Given the description of an element on the screen output the (x, y) to click on. 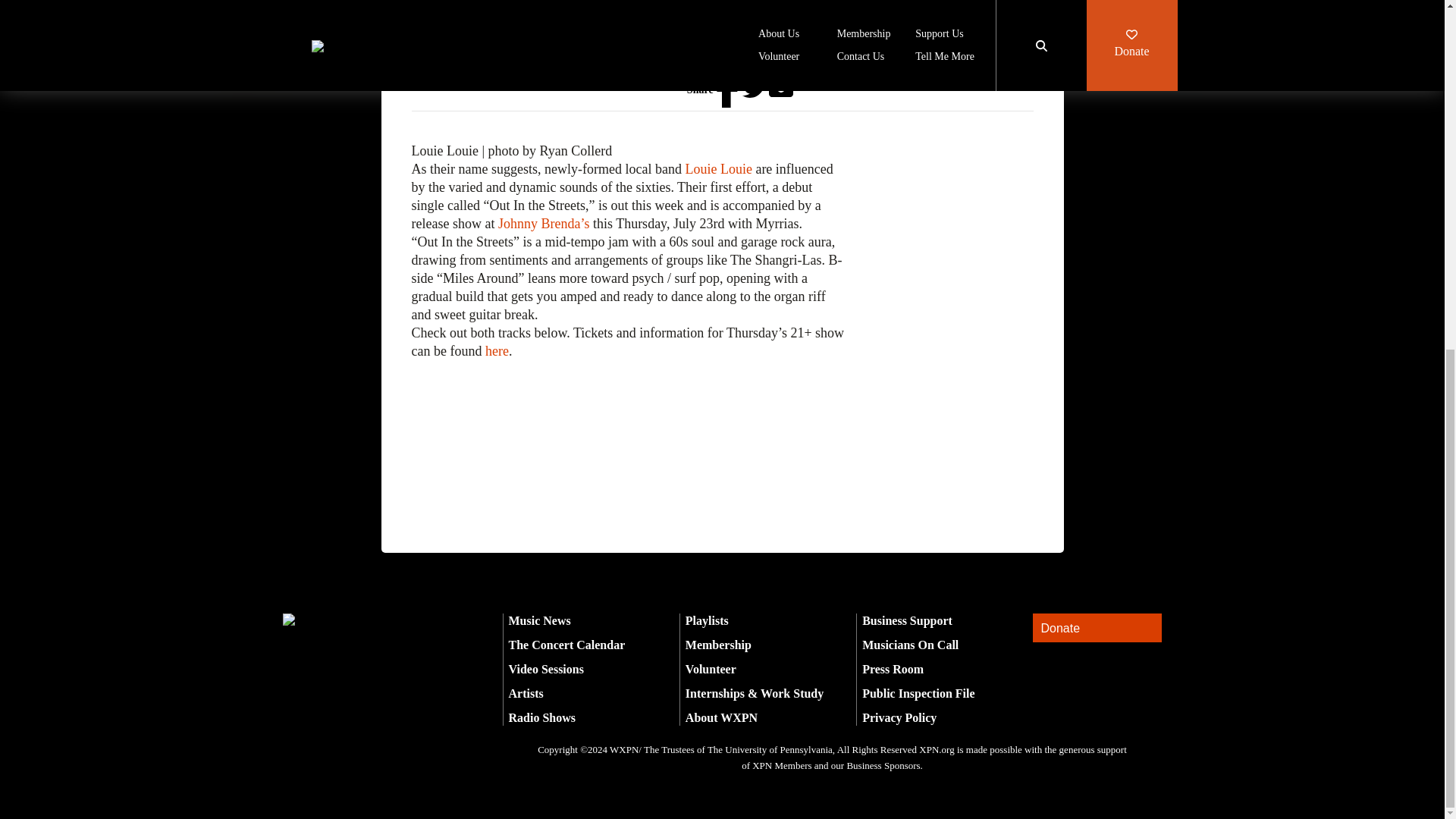
Public Inspection File (917, 693)
Musicians On Call (909, 644)
Business Support (906, 620)
Donate (1096, 627)
Artists (525, 693)
Playlists (707, 620)
Membership (718, 644)
The Concert Calendar (566, 644)
here (496, 350)
Radio Shows (541, 717)
